Given the description of an element on the screen output the (x, y) to click on. 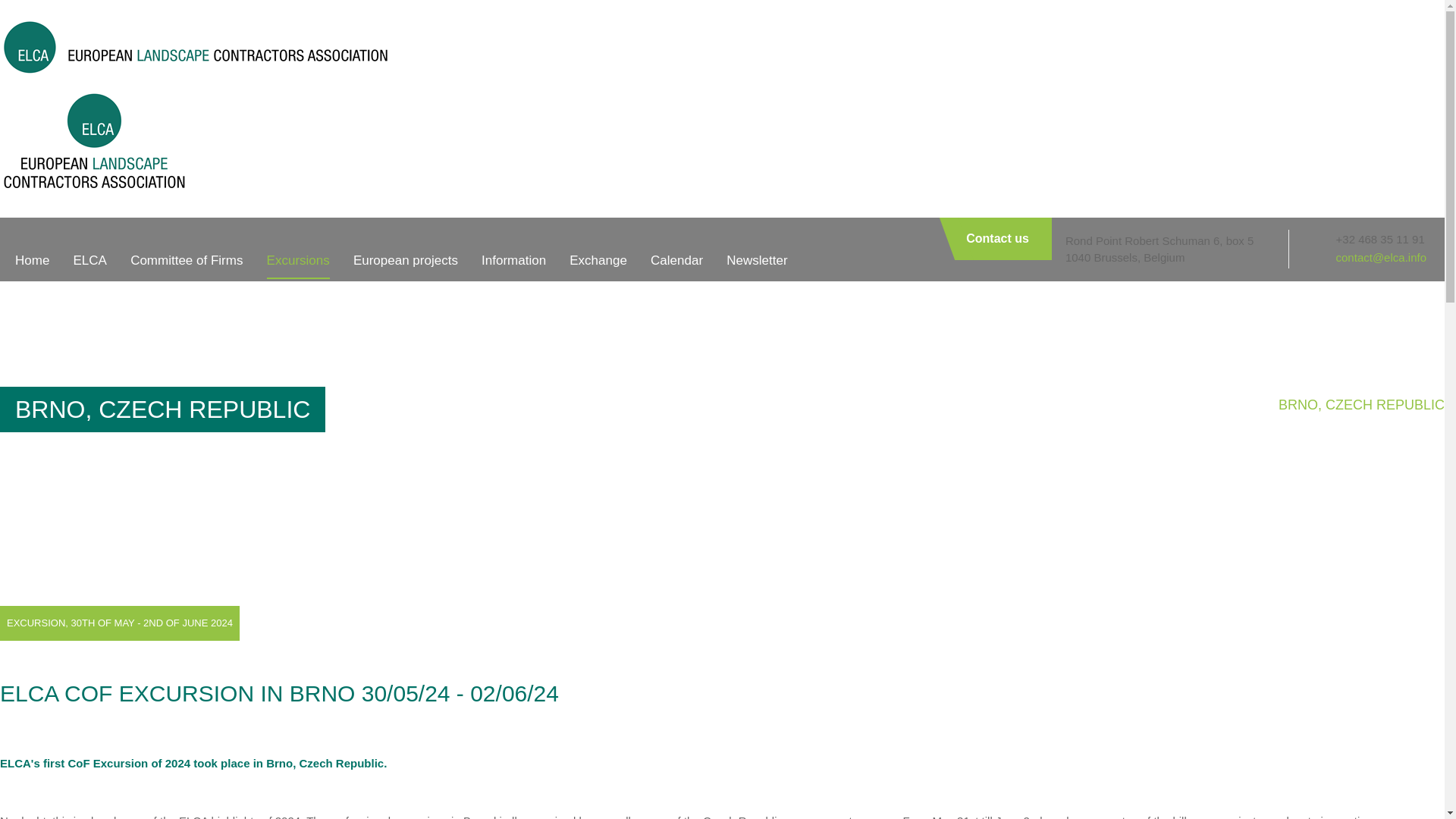
Committee of Firms (187, 260)
Exchange (598, 260)
Information (513, 260)
European projects (405, 260)
Excursions (298, 260)
